Given the description of an element on the screen output the (x, y) to click on. 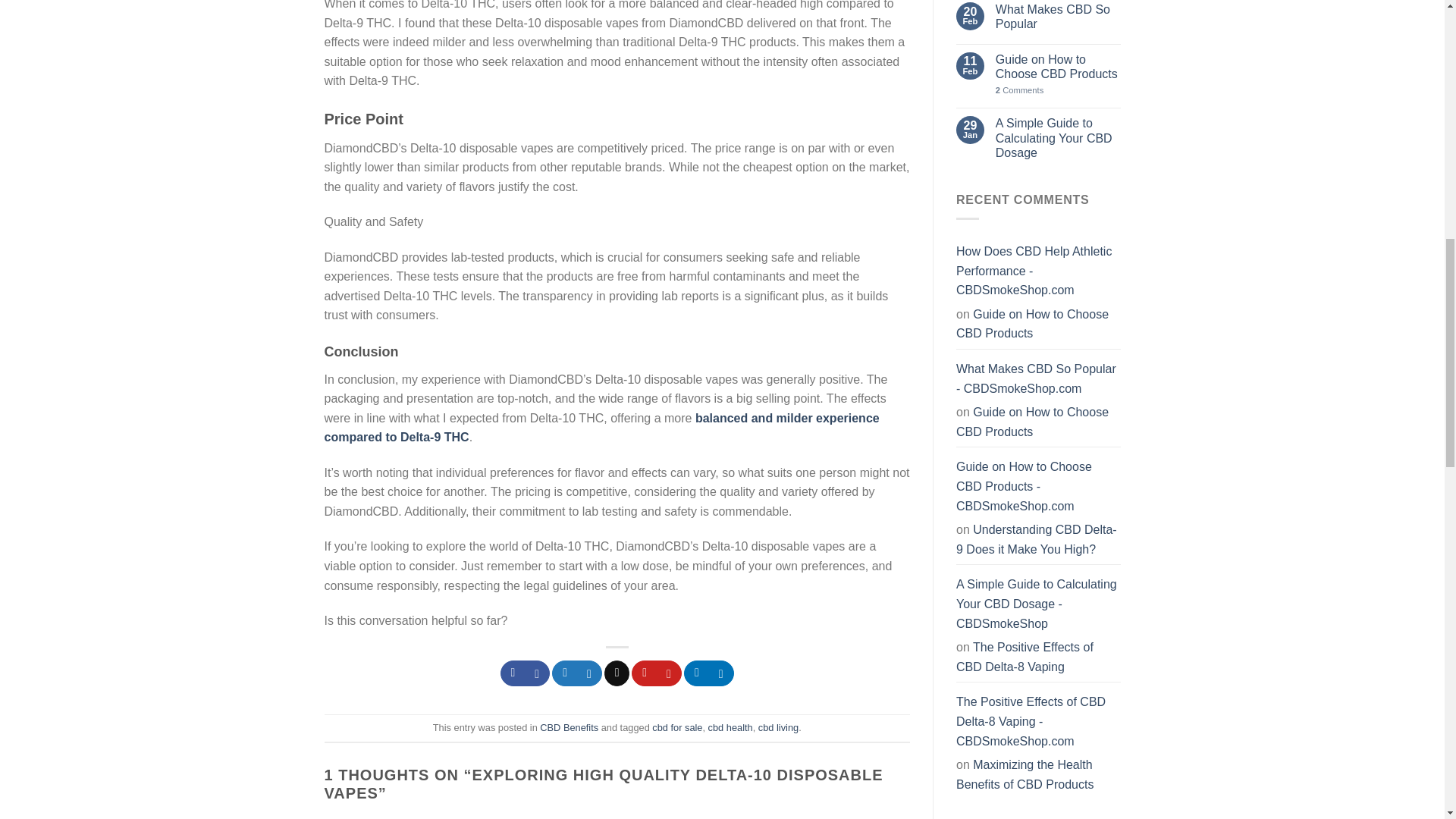
CBD Benefits (569, 727)
cbd for sale (676, 727)
Share on LinkedIn (708, 673)
cbd health (729, 727)
balanced and milder experience compared to Delta-9 THC (601, 427)
Share on Twitter (576, 673)
Share on Facebook (525, 673)
Email to a Friend (616, 673)
Pin on Pinterest (656, 673)
cbd living (777, 727)
